Given the description of an element on the screen output the (x, y) to click on. 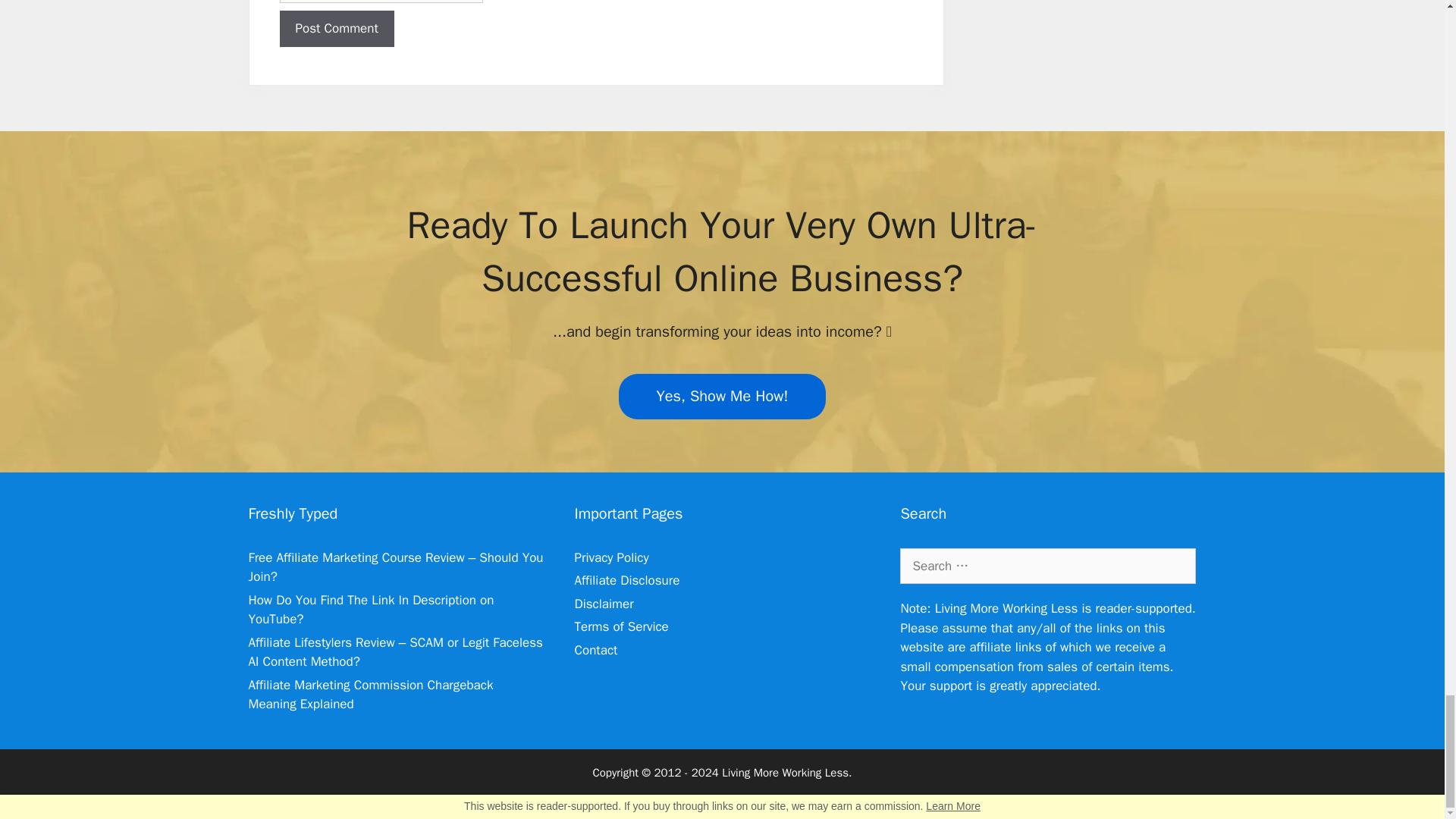
Post Comment (336, 28)
Post Comment (336, 28)
Search for: (1047, 565)
